Given the description of an element on the screen output the (x, y) to click on. 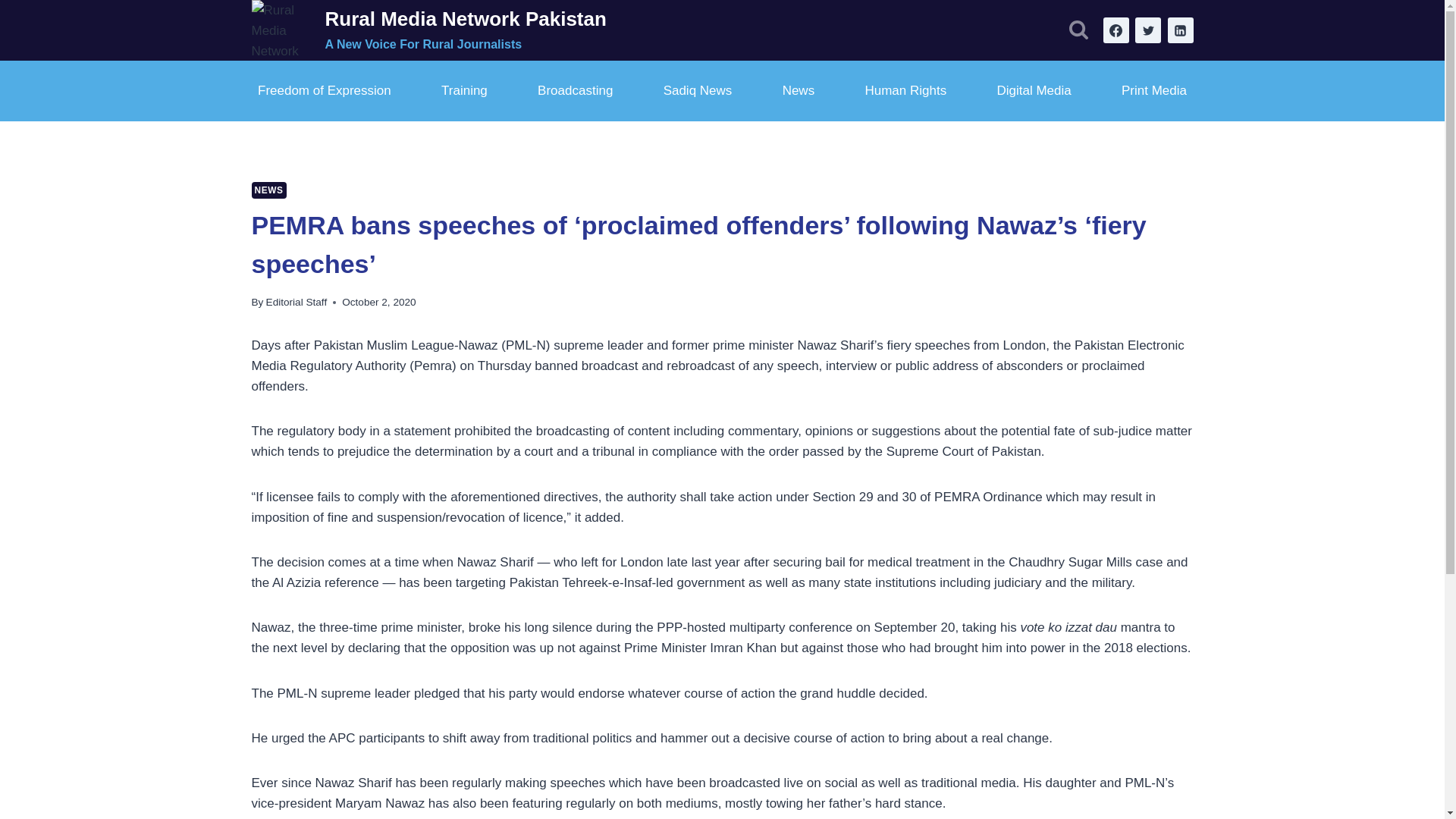
Freedom of Expression (324, 90)
Digital Media (1033, 90)
News (798, 90)
Print Media (1153, 90)
Human Rights (906, 90)
Broadcasting (575, 90)
Editorial Staff (296, 301)
Sadiq News (697, 90)
NEWS (268, 190)
